Given the description of an element on the screen output the (x, y) to click on. 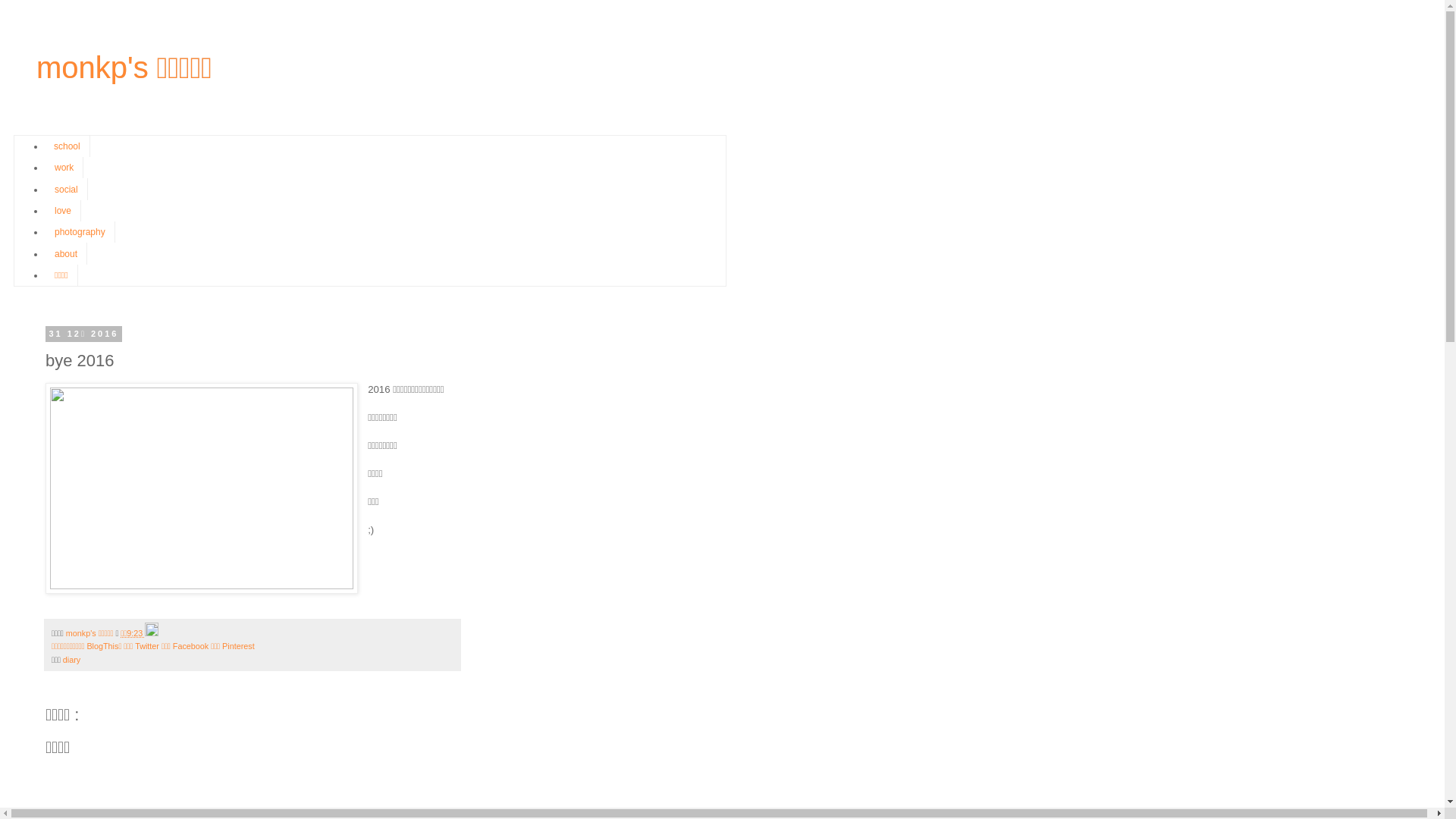
school Element type: text (67, 145)
diary Element type: text (71, 659)
photography Element type: text (79, 231)
work Element type: text (63, 167)
social Element type: text (65, 188)
love Element type: text (62, 210)
about Element type: text (65, 252)
